Given the description of an element on the screen output the (x, y) to click on. 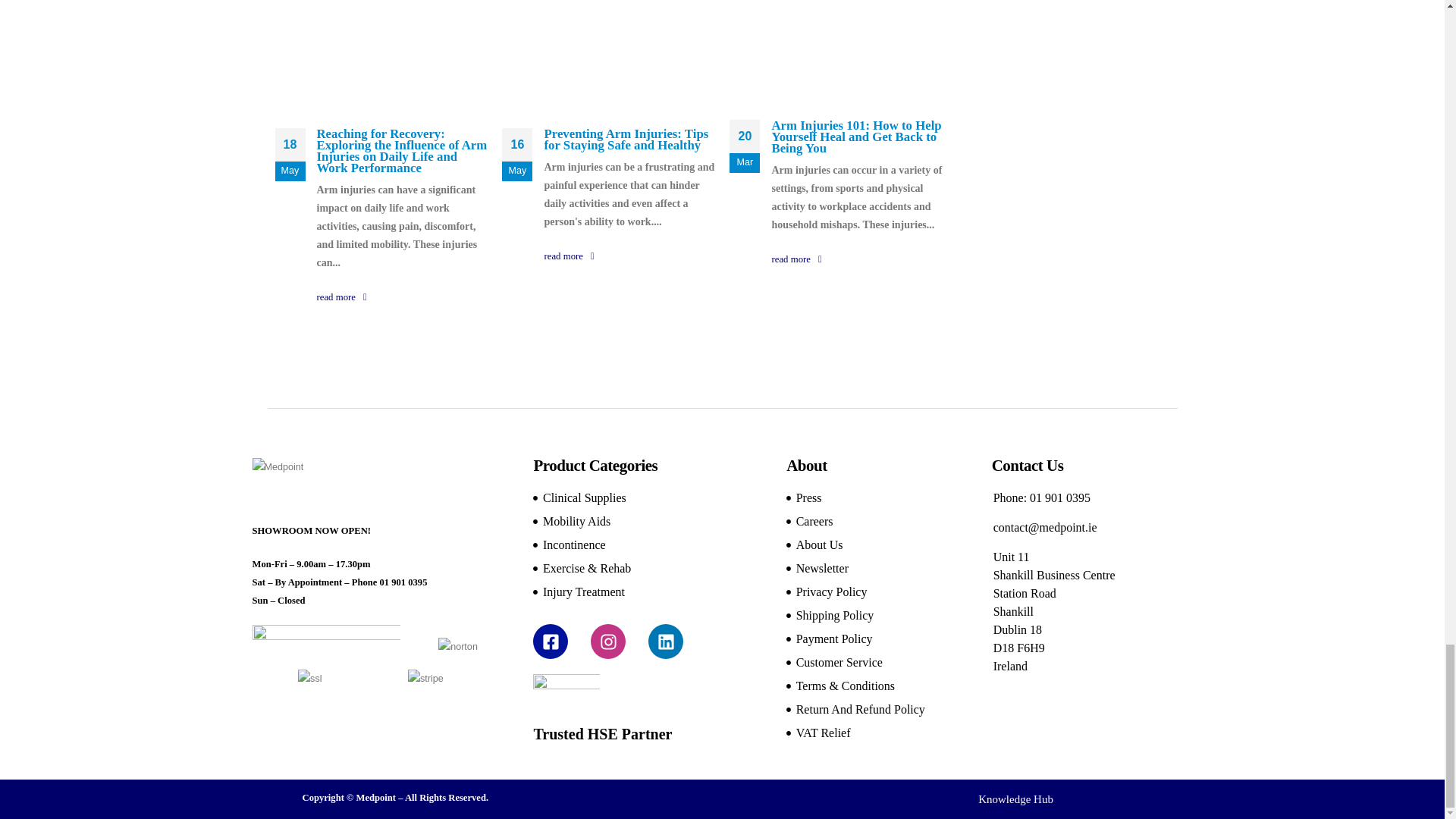
stripe (425, 678)
ssl (309, 678)
norton (457, 647)
